Given the description of an element on the screen output the (x, y) to click on. 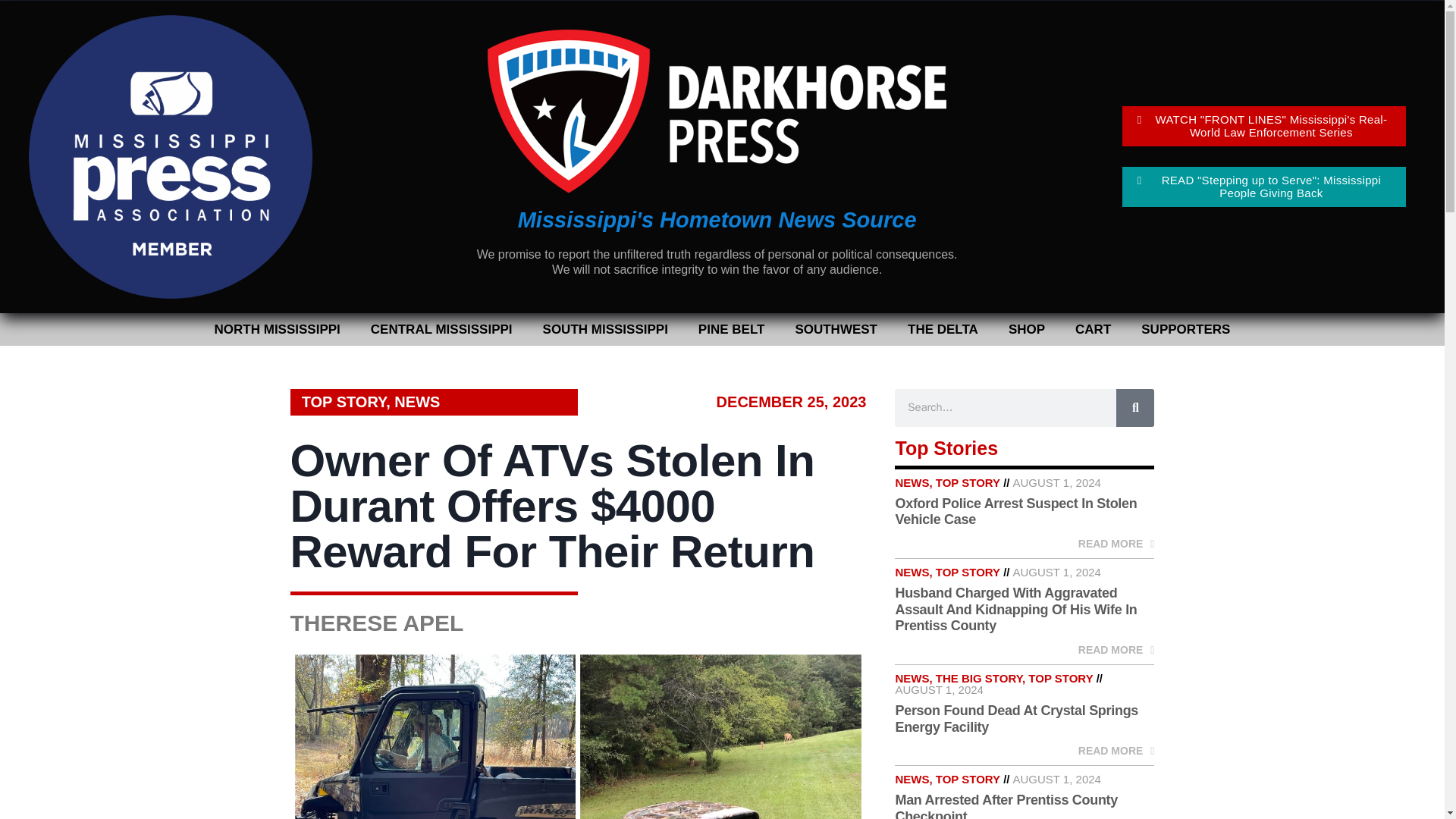
SOUTH MISSISSIPPI (604, 328)
SOUTHWEST (835, 328)
CART (1092, 328)
NEWS (416, 401)
CENTRAL MISSISSIPPI (441, 328)
TOP STORY (344, 401)
READ "Stepping up to Serve": Mississippi People Giving Back (1264, 187)
SUPPORTERS (1184, 328)
PINE BELT (731, 328)
SHOP (1025, 328)
NORTH MISSISSIPPI (277, 328)
THE DELTA (942, 328)
